Given the description of an element on the screen output the (x, y) to click on. 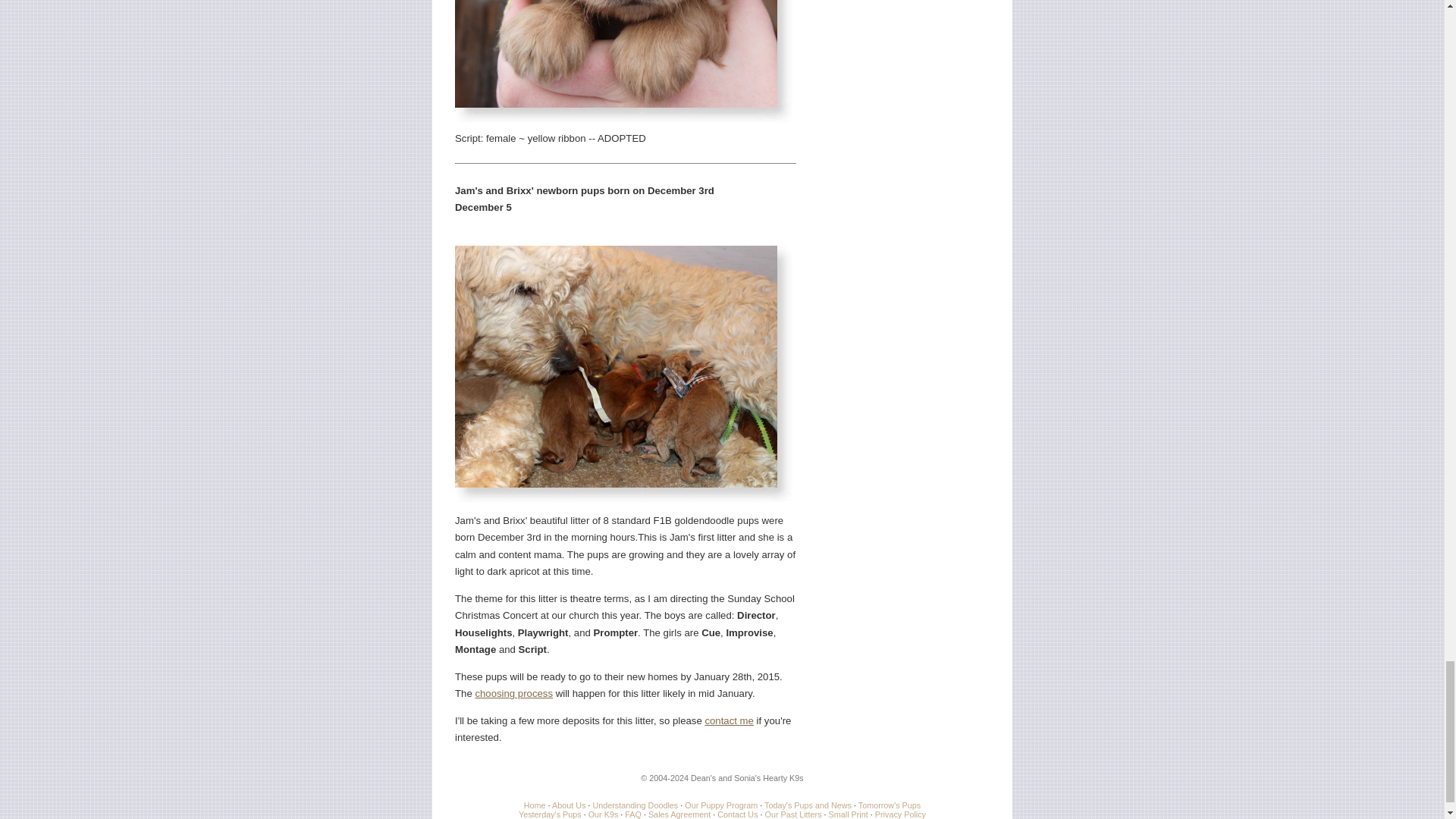
Today's Pups and News (807, 805)
Tomorrow's Pups (889, 805)
Home (535, 805)
About Us (568, 805)
Understanding Doodles (635, 805)
Our Puppy Program (720, 805)
choosing process (513, 693)
contact me (729, 720)
